Given the description of an element on the screen output the (x, y) to click on. 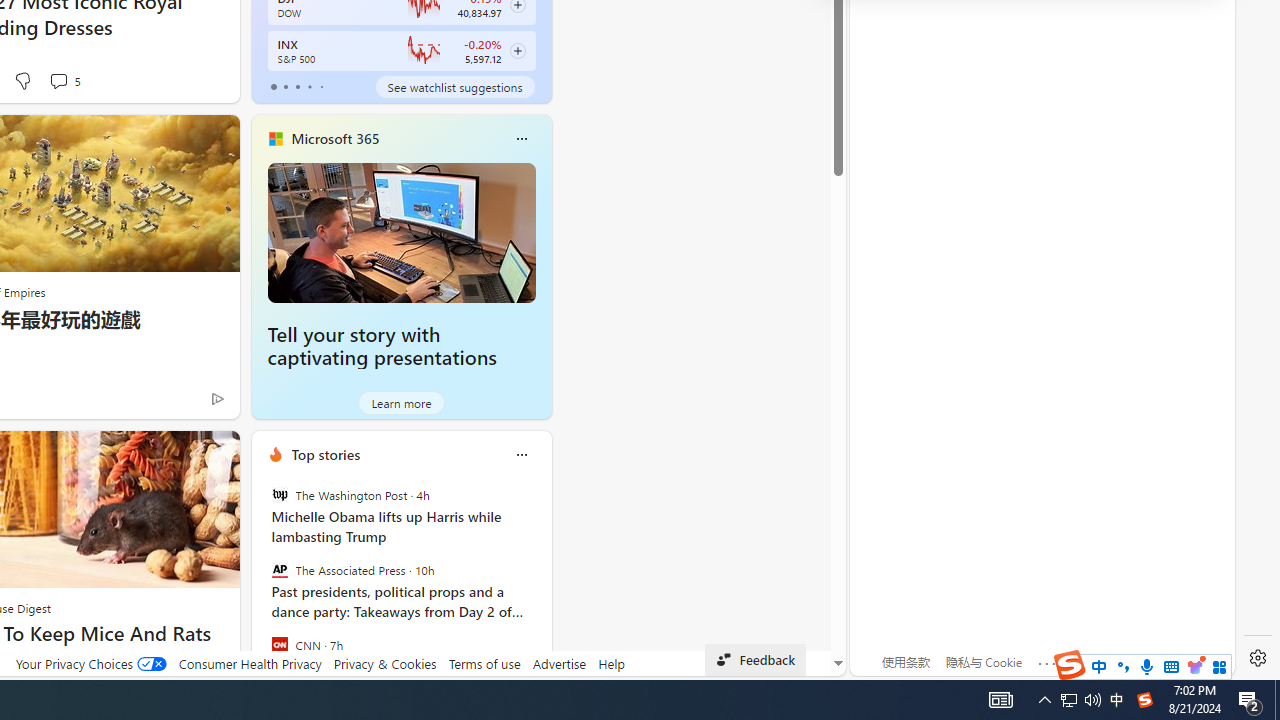
next (541, 583)
tab-0 (273, 86)
tab-3 (309, 86)
View comments 5 Comment (58, 80)
